Given the description of an element on the screen output the (x, y) to click on. 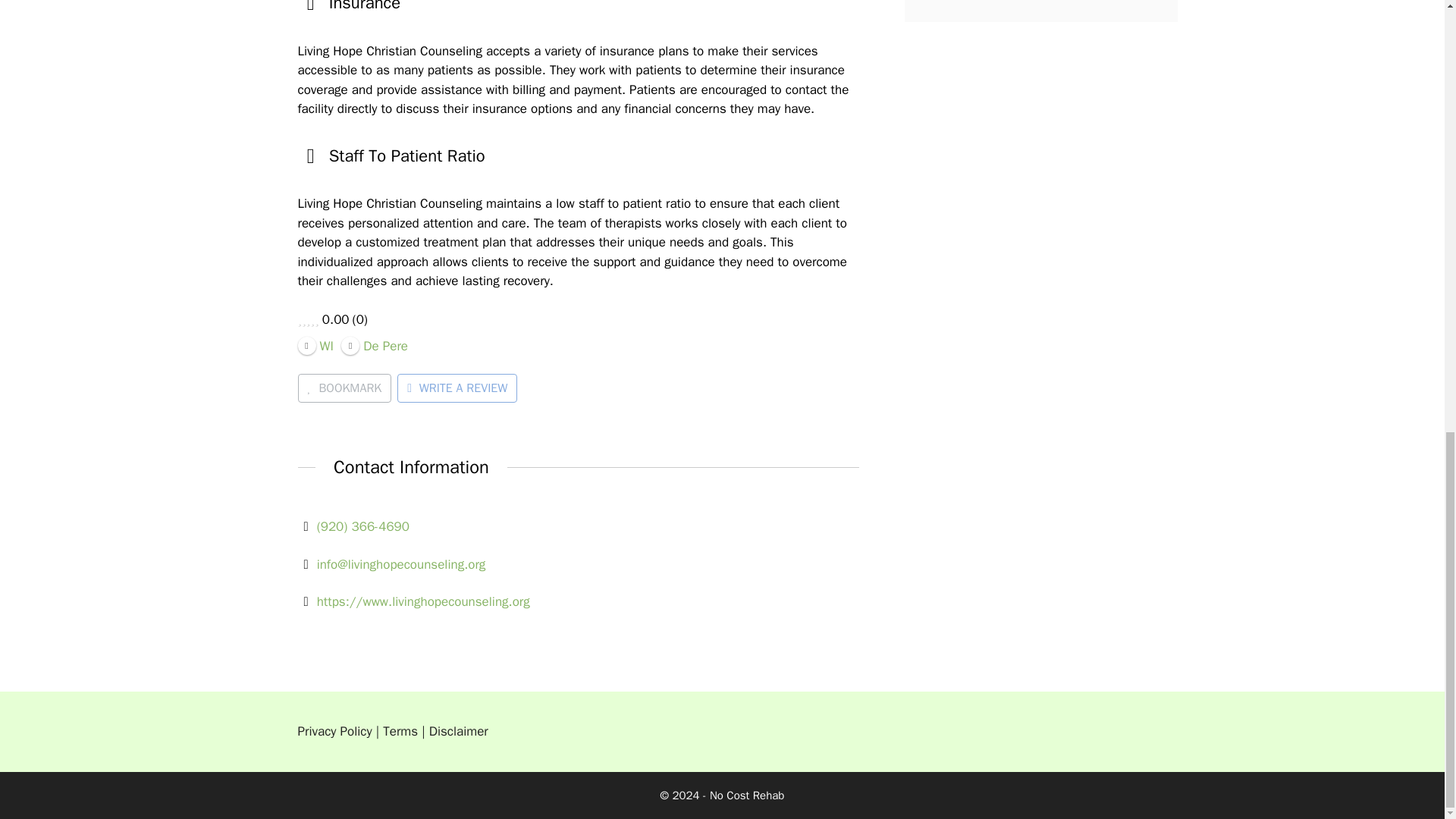
De Pere (373, 344)
WI (315, 344)
